Given the description of an element on the screen output the (x, y) to click on. 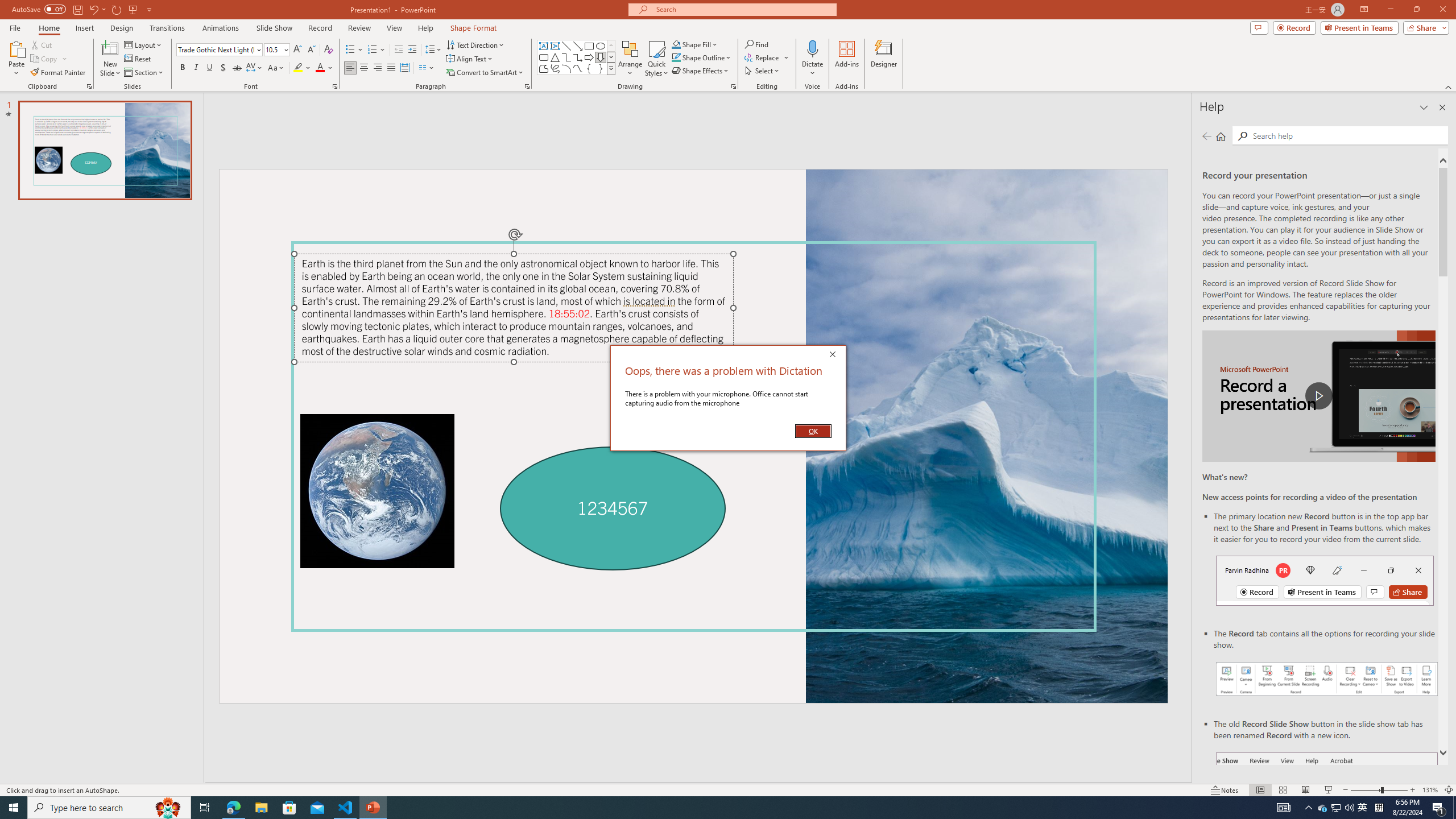
Line Arrow (577, 45)
Slide Show (273, 28)
Shapes (611, 68)
Numbering (372, 49)
Redo (117, 9)
Replace... (767, 56)
Numbering (376, 49)
Find... (756, 44)
Record your presentations screenshot one (1326, 678)
Rectangle (589, 45)
Font Color (324, 67)
Class: NetUIImage (610, 68)
Arrange (630, 58)
Bullets (349, 49)
